Given the description of an element on the screen output the (x, y) to click on. 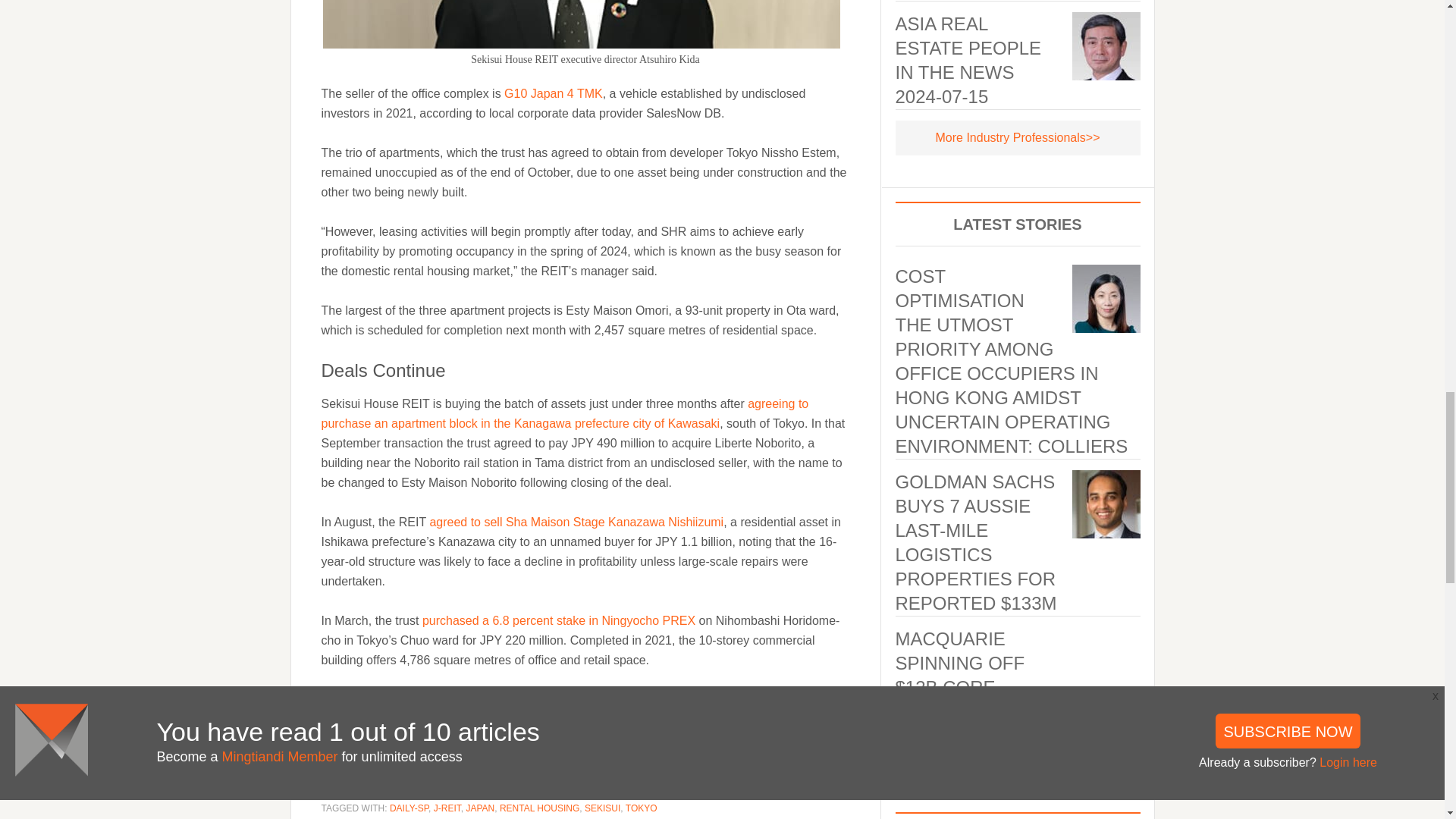
Share on X (652, 738)
Share on Facebook (517, 738)
Share on LinkedIn (383, 738)
Send over email (787, 738)
